Given the description of an element on the screen output the (x, y) to click on. 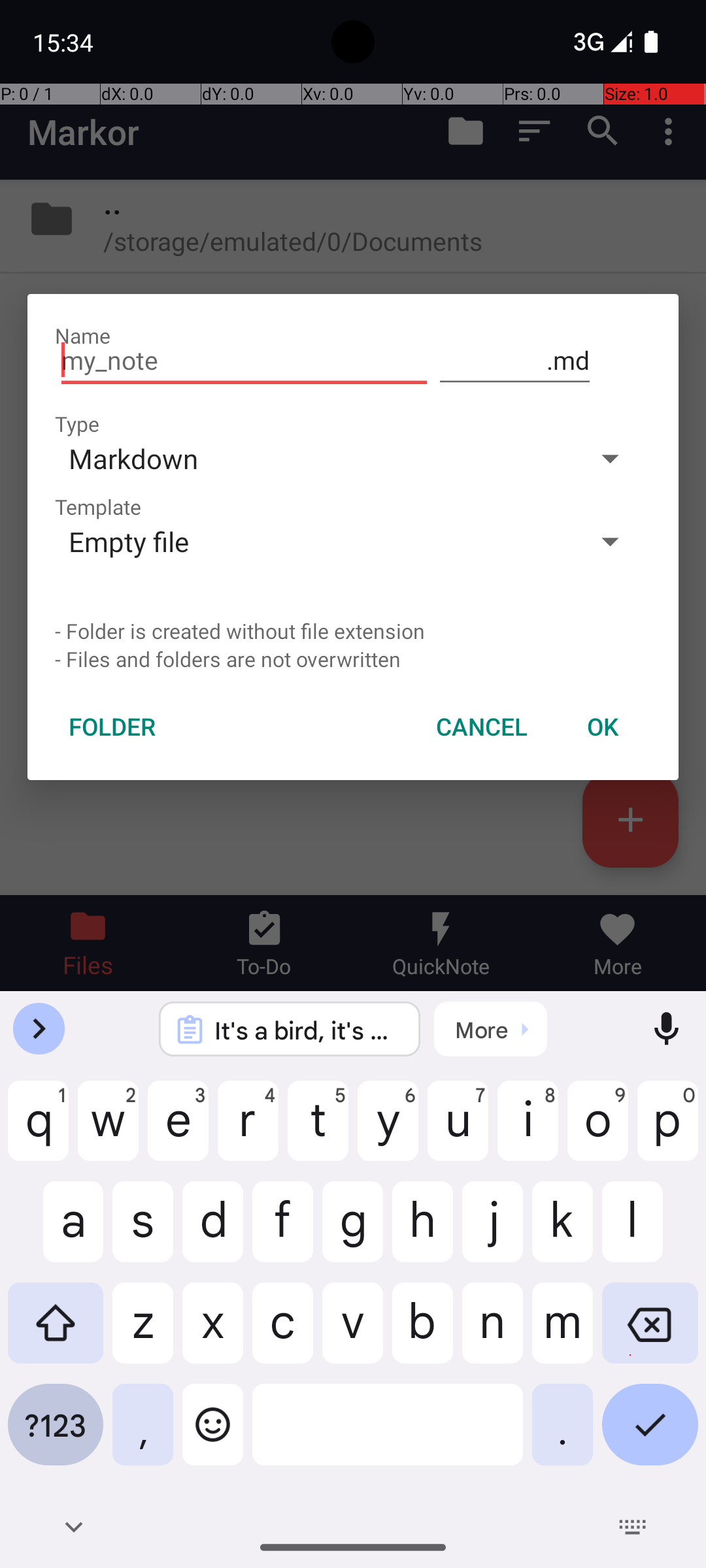
my_note Element type: android.widget.EditText (243, 360)
.md Element type: android.widget.EditText (514, 360)
Type Element type: android.widget.TextView (76, 423)
Template Element type: android.widget.TextView (97, 506)
- Folder is created without file extension Element type: android.widget.TextView (352, 630)
- Files and folders are not overwritten Element type: android.widget.TextView (352, 658)
FOLDER Element type: android.widget.Button (111, 726)
Markdown Element type: android.widget.TextView (311, 457)
Empty file Element type: android.widget.TextView (311, 540)
Click to open Clipboard Element type: android.view.ViewGroup (490, 1028)
It's a bird, it's a plane. Element type: android.widget.TextView (306, 1029)
